Given the description of an element on the screen output the (x, y) to click on. 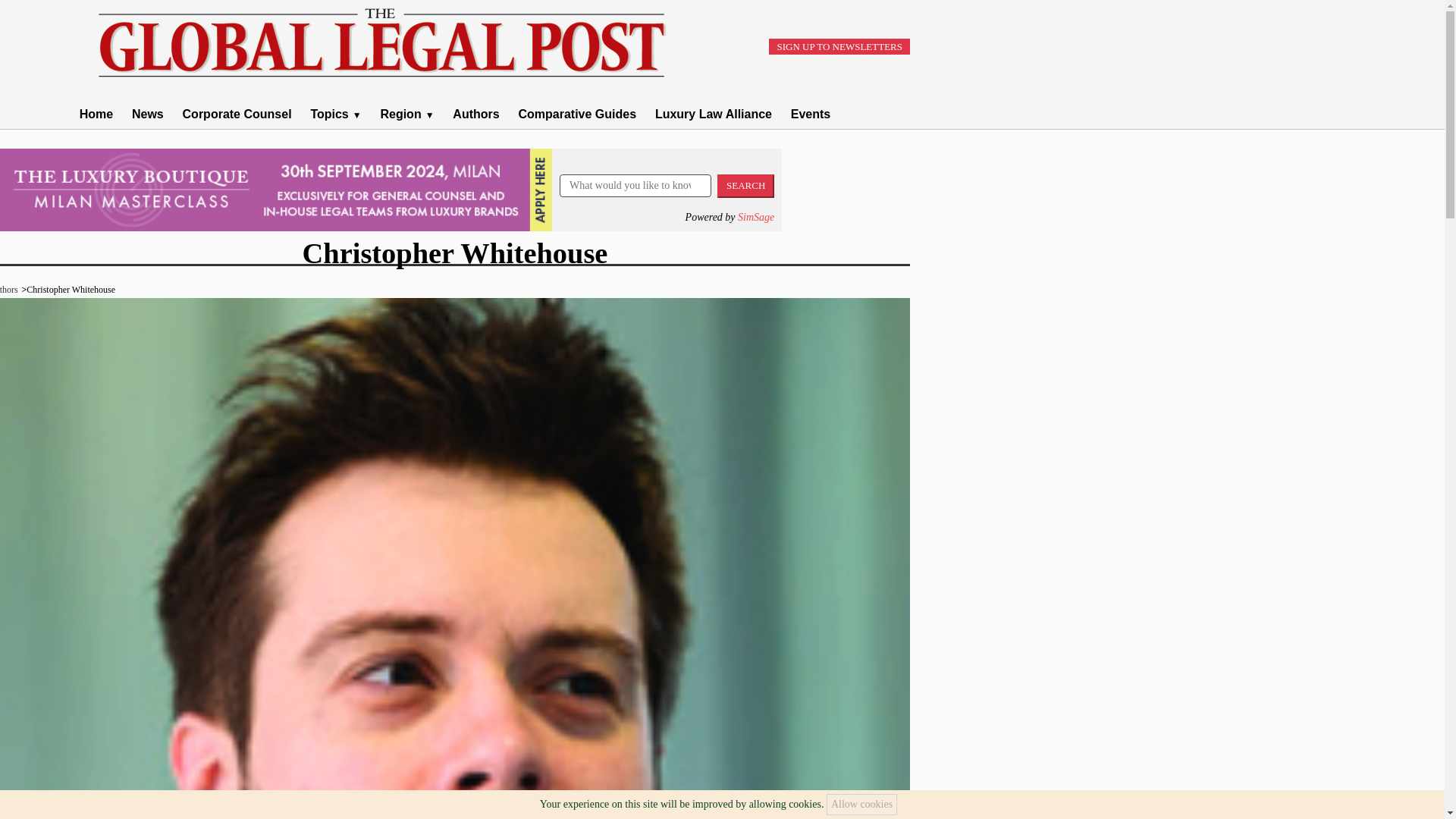
Events (809, 113)
Topics (335, 113)
SimSage (756, 216)
Authors (475, 113)
Authors (8, 289)
Home (96, 113)
Corporate counsel (335, 113)
Search (745, 186)
Search (745, 186)
Corporate Counsel (237, 113)
Global Legal Post Home (147, 113)
SIGN UP TO NEWSLETTERS (839, 45)
Comparative Guides (577, 113)
Events (809, 113)
Luxury Law Alliance (713, 113)
